Given the description of an element on the screen output the (x, y) to click on. 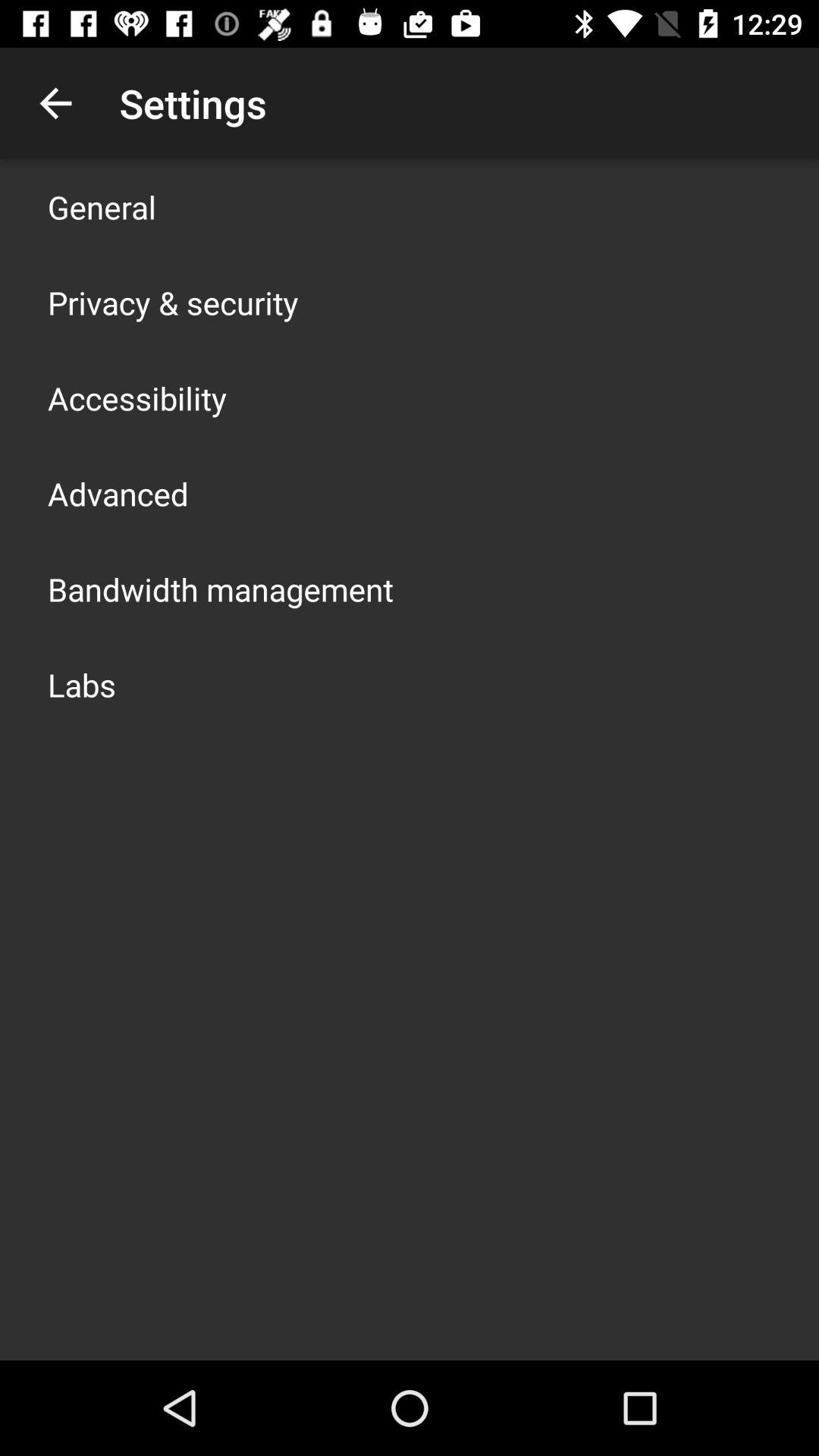
turn on item below general item (172, 302)
